Given the description of an element on the screen output the (x, y) to click on. 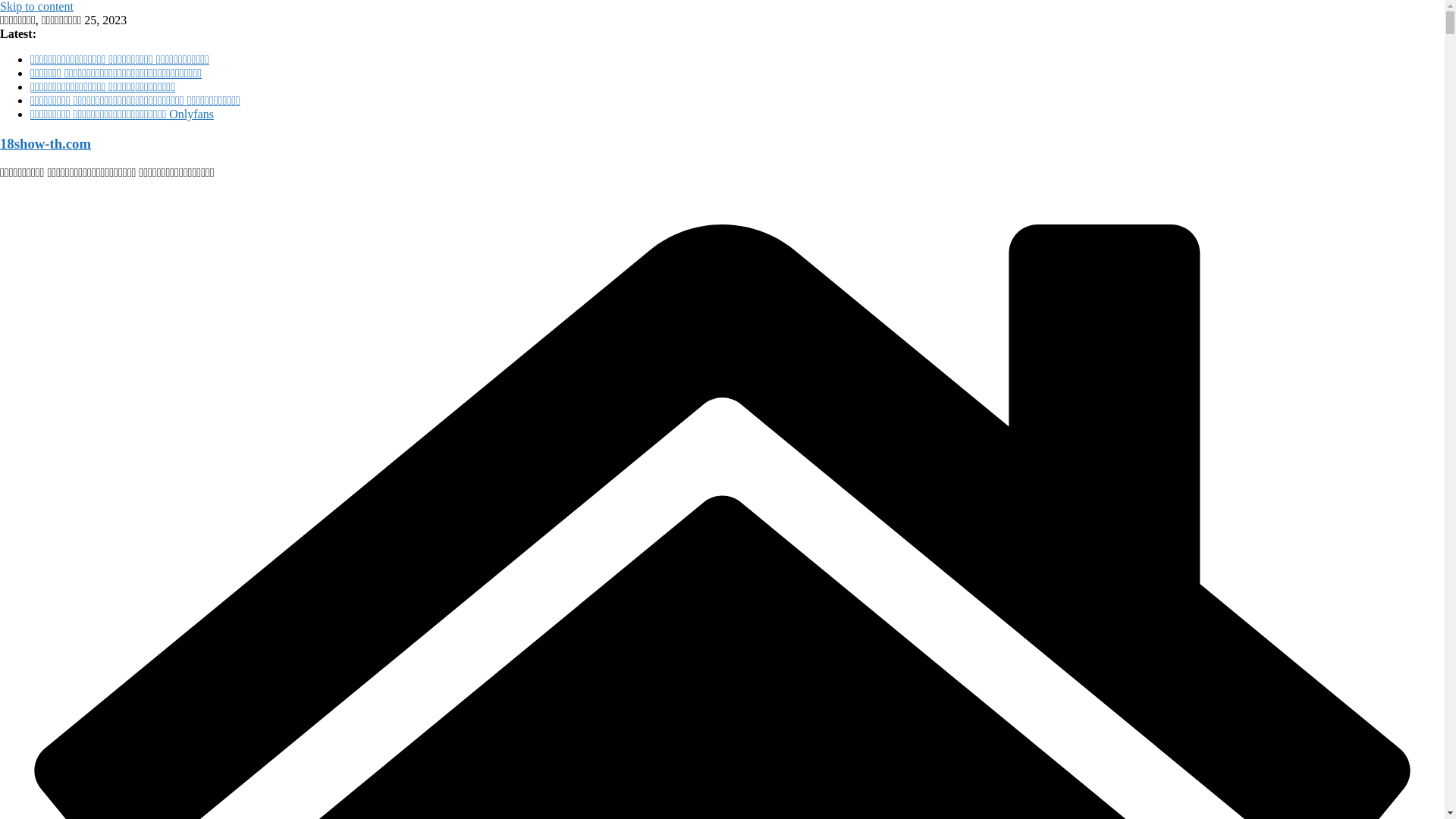
18show-th.com Element type: text (45, 143)
Skip to content Element type: text (36, 6)
